Given the description of an element on the screen output the (x, y) to click on. 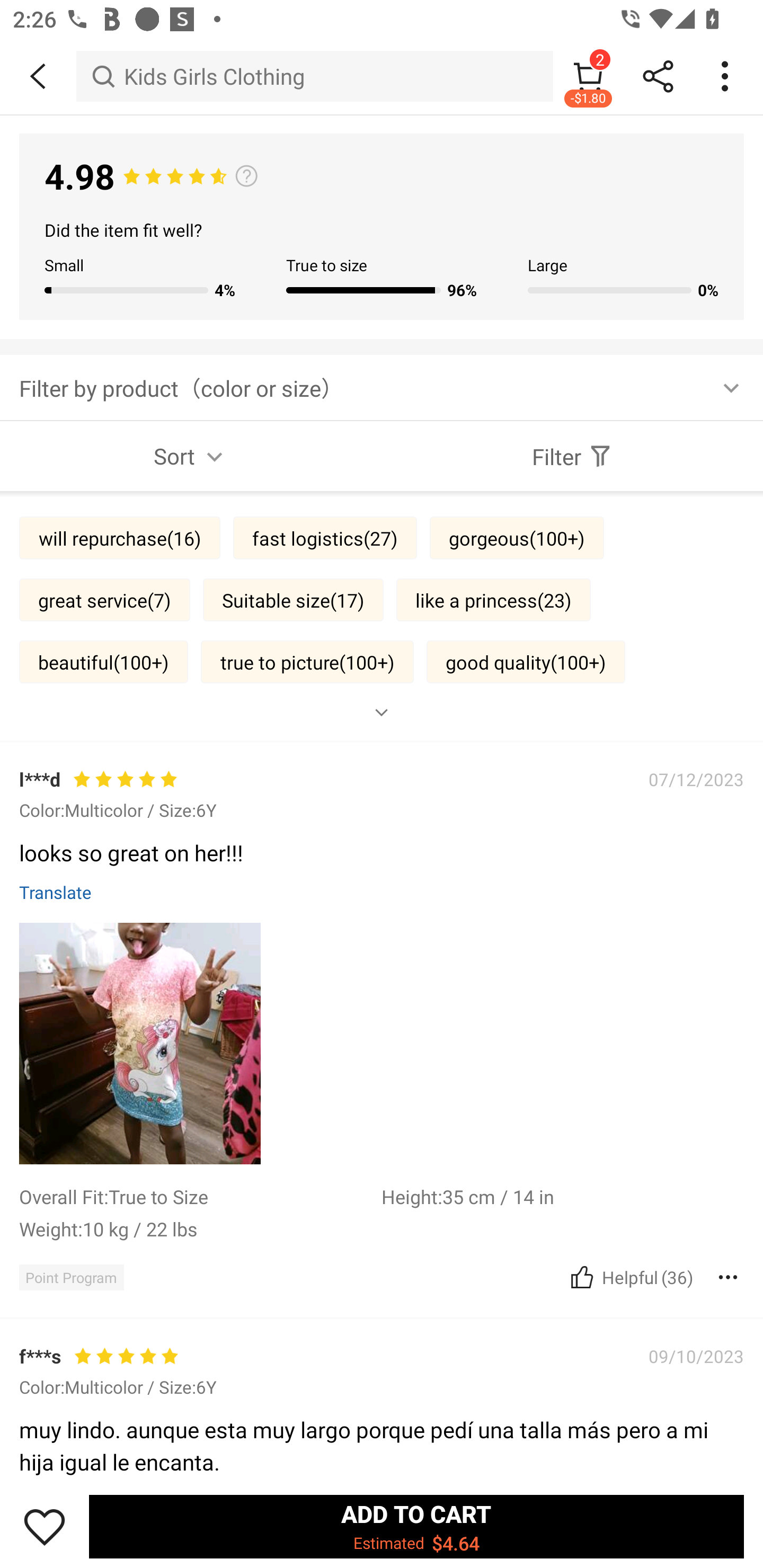
BACK (38, 75)
2 -$1.80 (588, 75)
Kids Girls Clothing (314, 75)
Filter by product（color or size） (381, 387)
Sort (190, 455)
Filter (572, 455)
will repurchase(16) (119, 537)
fast logistics(27) (325, 537)
gorgeous(100‎+) (516, 537)
great service(7) (104, 599)
Suitable size(17) (292, 599)
like a princess(23) (492, 599)
beautiful(100‎+) (103, 661)
true to picture(100‎+) (306, 661)
good quality(100‎+) (525, 661)
Translate (55, 891)
Overall Fit:True to Size (200, 1195)
Height:35 cm / 14 in (562, 1195)
Weight:10 kg / 22 lbs (200, 1228)
Cancel Helpful Was this article helpful? (36) (629, 1277)
Point Program (71, 1276)
will repurchase(16) (119, 1389)
ADD TO CART Estimated   $4.64 (416, 1526)
Save (44, 1526)
